Given the description of an element on the screen output the (x, y) to click on. 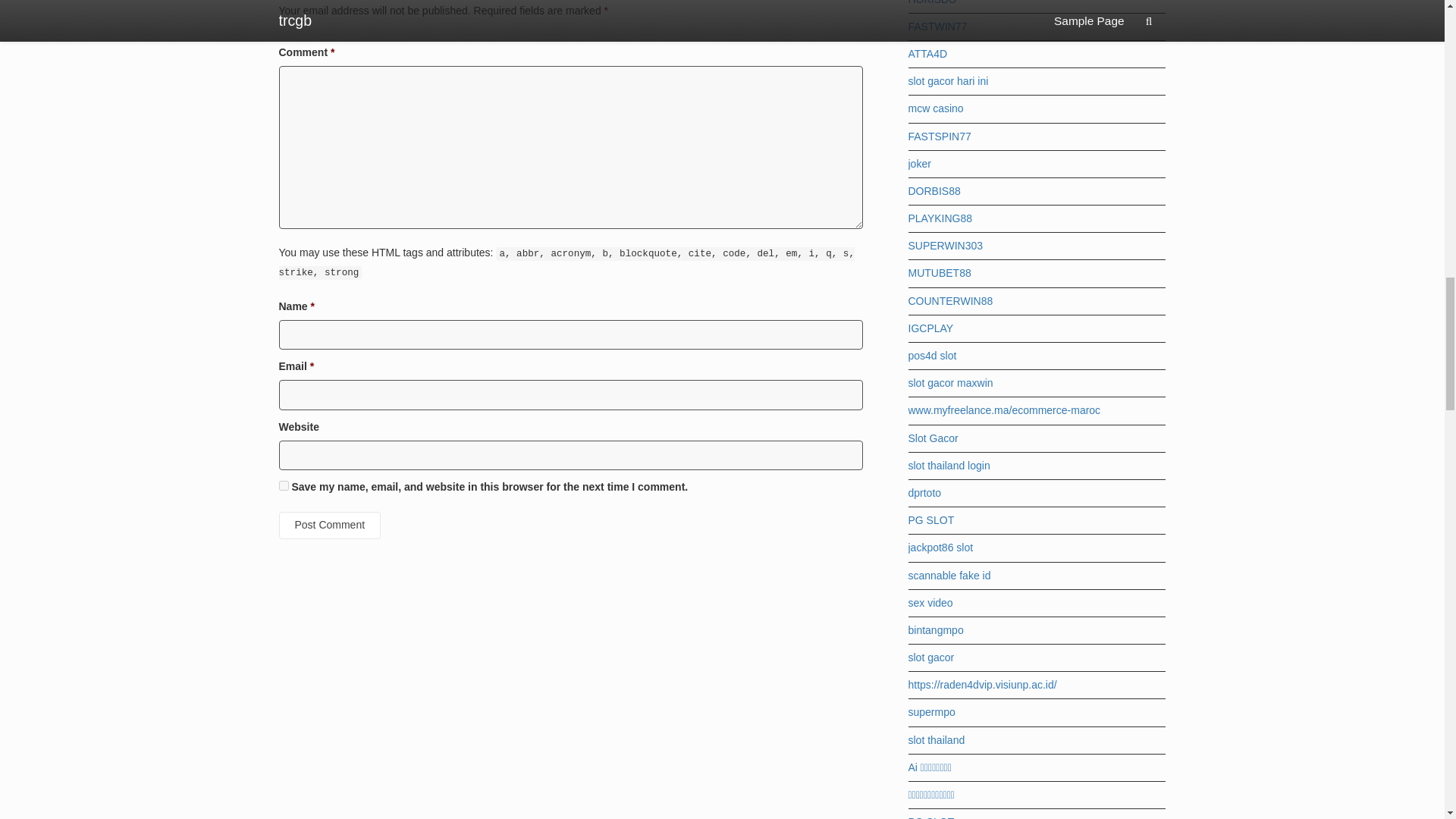
Post Comment (330, 524)
Post Comment (330, 524)
yes (283, 485)
